Given the description of an element on the screen output the (x, y) to click on. 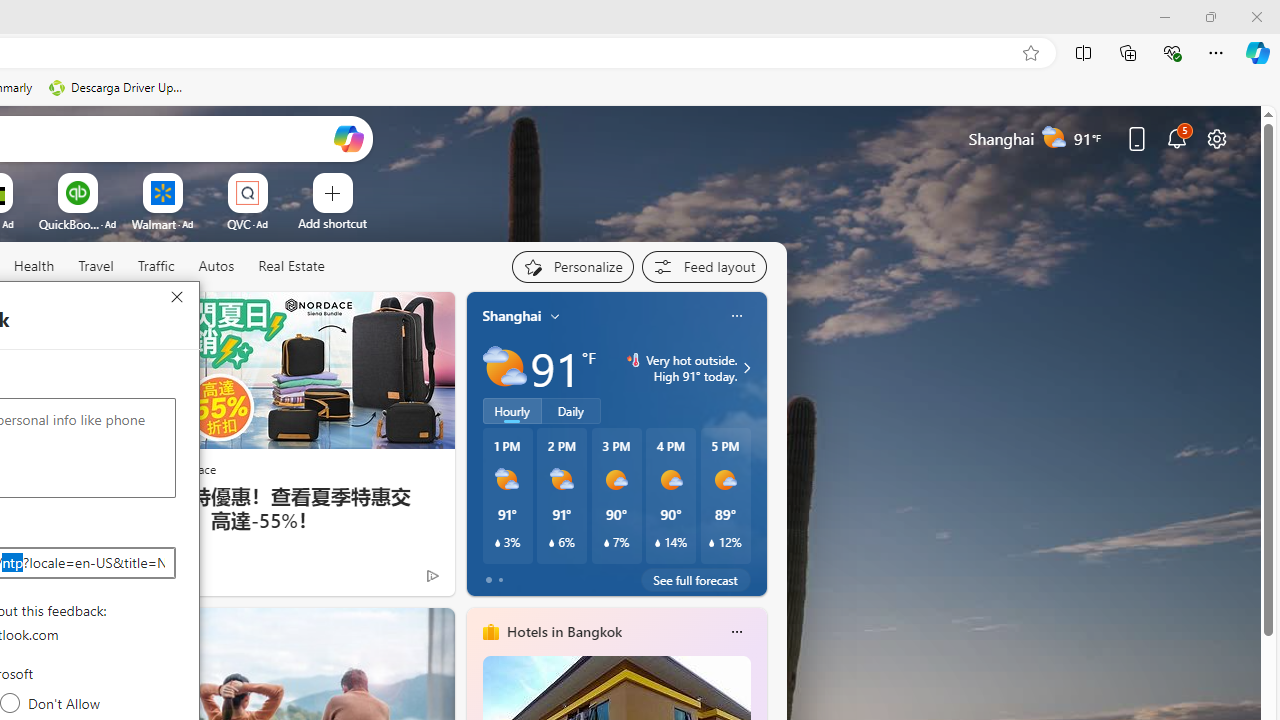
tab-0 (488, 579)
Autos (215, 265)
Add a site (332, 223)
Notifications (1176, 138)
Don't Allow (10, 703)
Autos (216, 267)
